Given the description of an element on the screen output the (x, y) to click on. 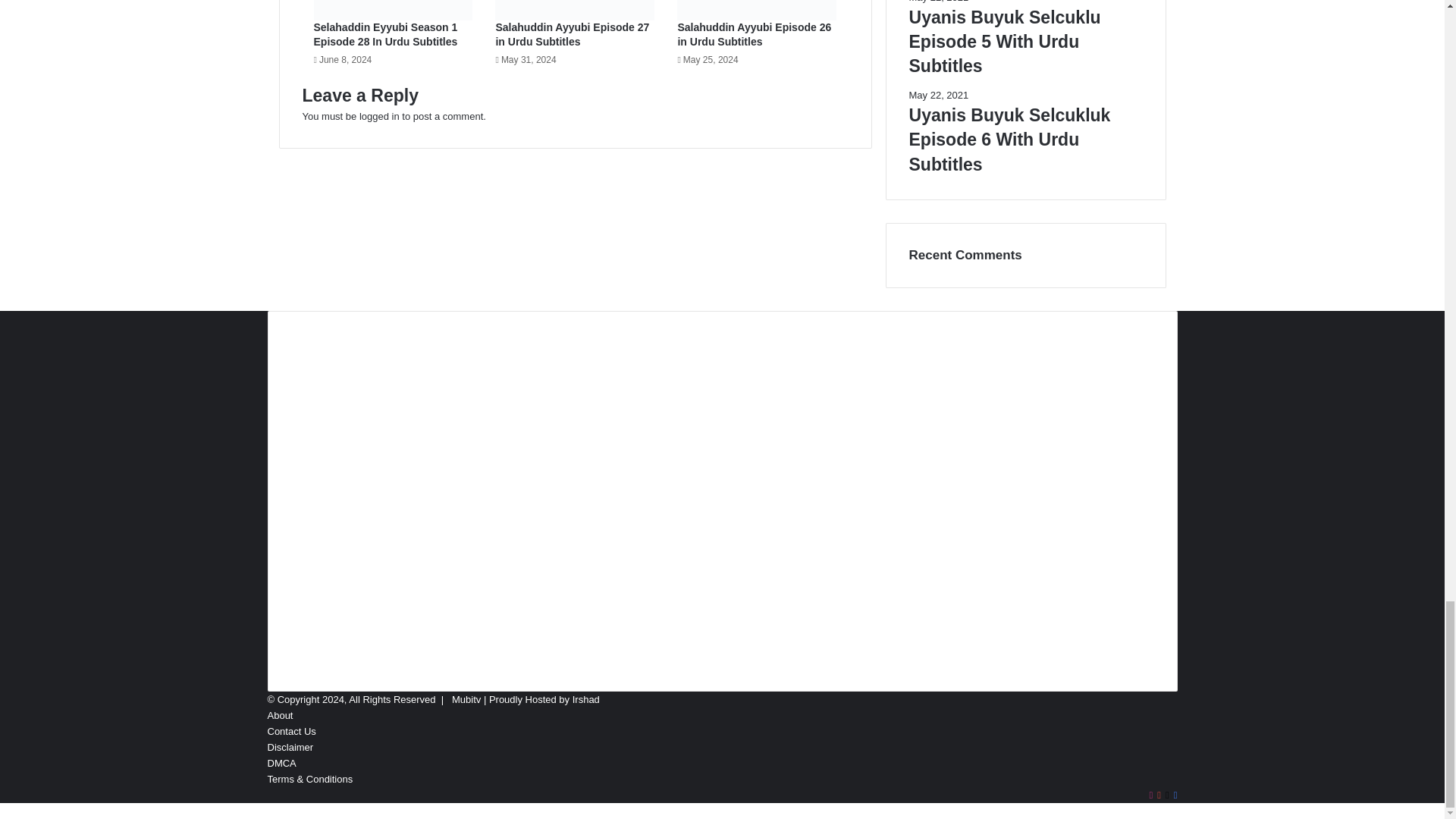
Salahuddin Ayyubi Episode 26 in Urdu Subtitles (754, 34)
Salahuddin Ayyubi Episode 27 in Urdu Subtitles (572, 34)
Selahaddin Eyyubi Season 1 Episode 28 In Urdu Subtitles (386, 34)
logged in (378, 116)
